Given the description of an element on the screen output the (x, y) to click on. 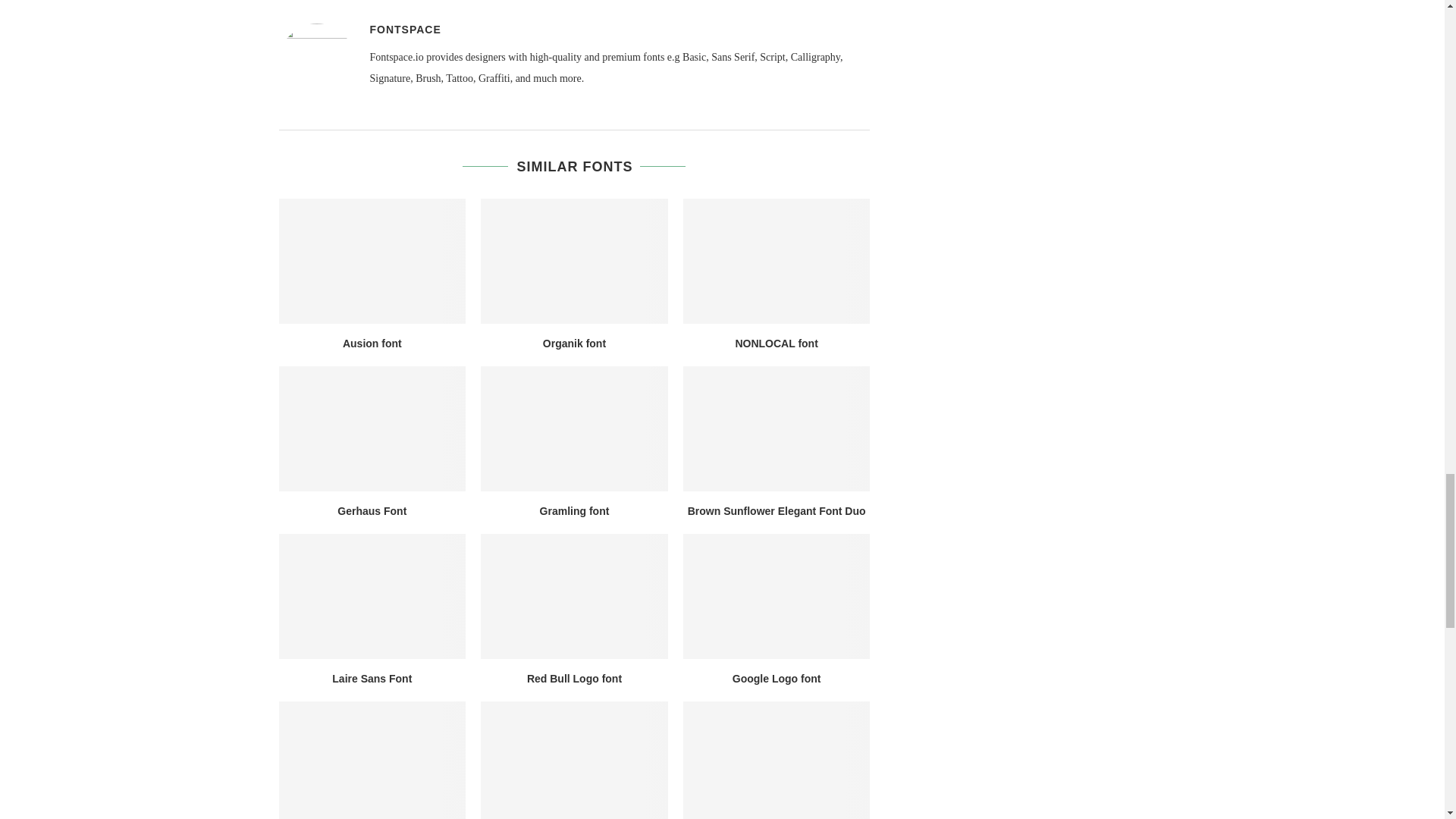
Gramling font (574, 428)
Organik font (574, 260)
Brown Sunflower Elegant Font Duo (776, 428)
NONLOCAL font (776, 260)
Laire Sans Font (372, 595)
Ausion font (372, 260)
Red Bull Logo font (574, 595)
Gerhaus Font (372, 428)
Posts by Fontspace (405, 29)
